Given the description of an element on the screen output the (x, y) to click on. 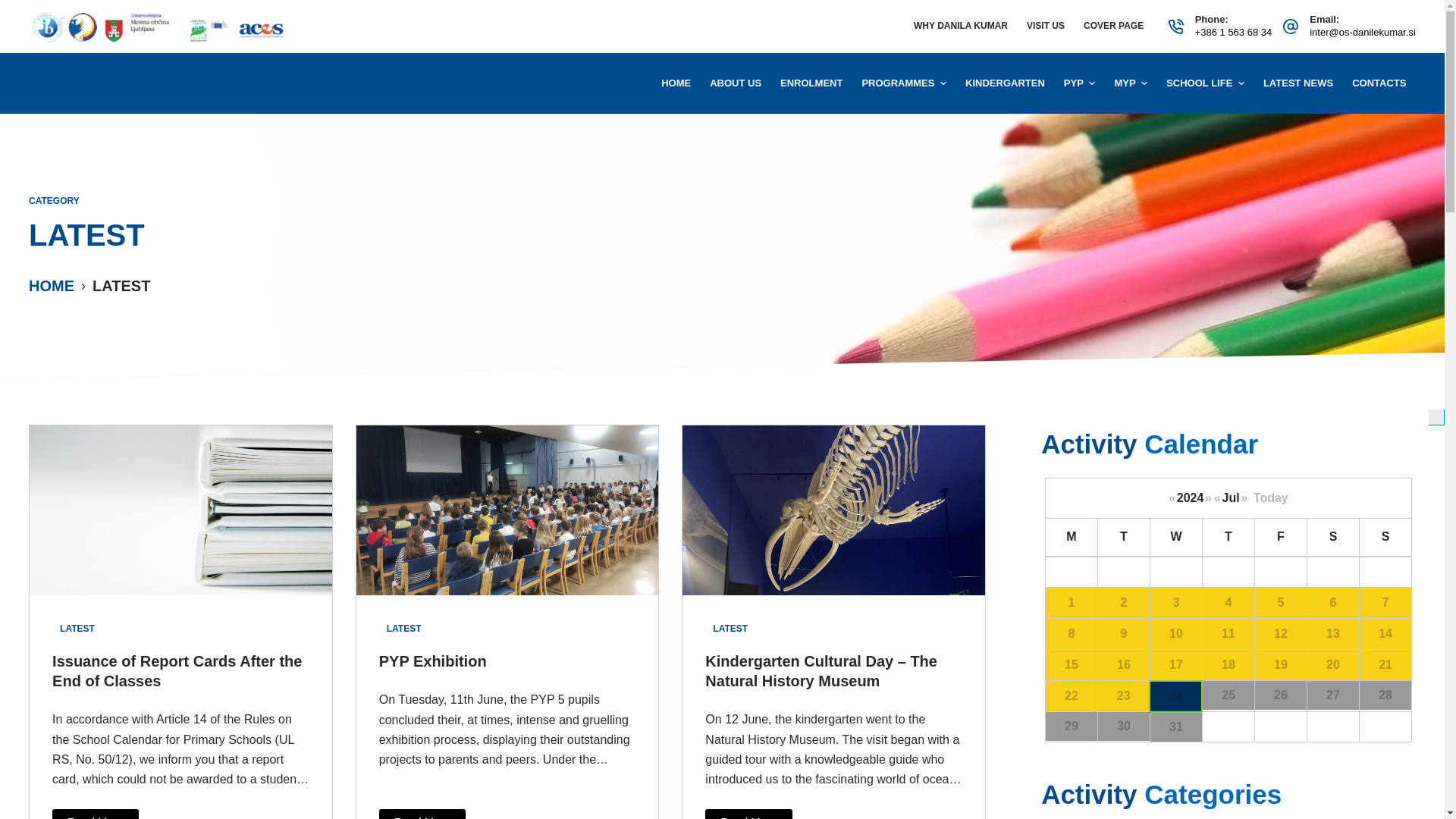
View 1 event at date 1. July, 2024 (1071, 603)
View 1 event at date 7. July, 2024 (1384, 603)
View 1 event at date 2. July, 2024 (1123, 603)
Category Latest (722, 225)
View 1 event at date 3. July, 2024 (1176, 603)
View 1 event at date 4. July, 2024 (1227, 603)
View 1 event at date 9. July, 2024 (1123, 634)
View 1 event at date 6. July, 2024 (1332, 603)
View 1 event at date 10. July, 2024 (1176, 634)
Skip to content (15, 7)
View 1 event at date 5. July, 2024 (1280, 603)
View 1 event at date 8. July, 2024 (1071, 634)
